Given the description of an element on the screen output the (x, y) to click on. 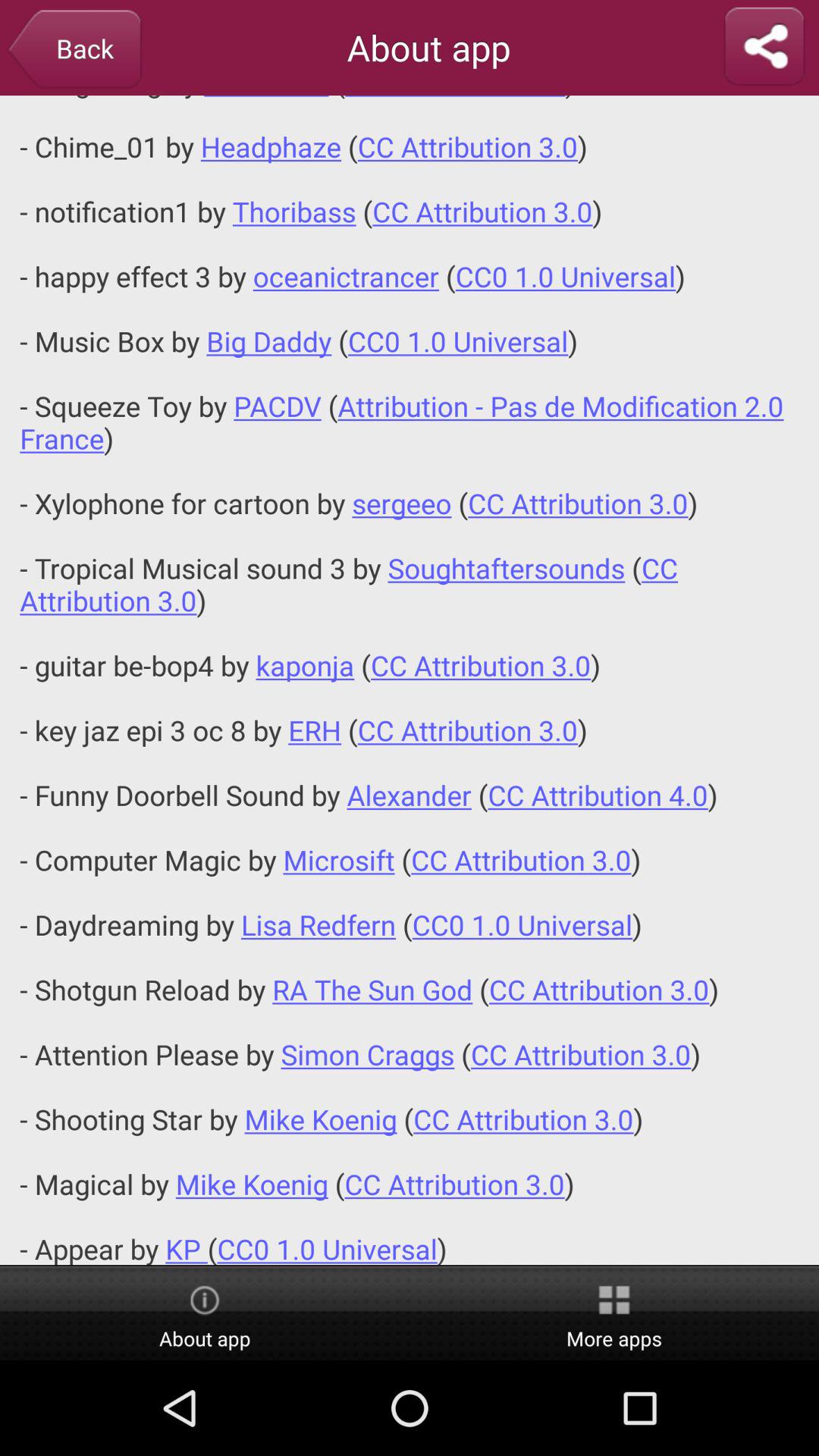
choose button at the top left corner (73, 50)
